Given the description of an element on the screen output the (x, y) to click on. 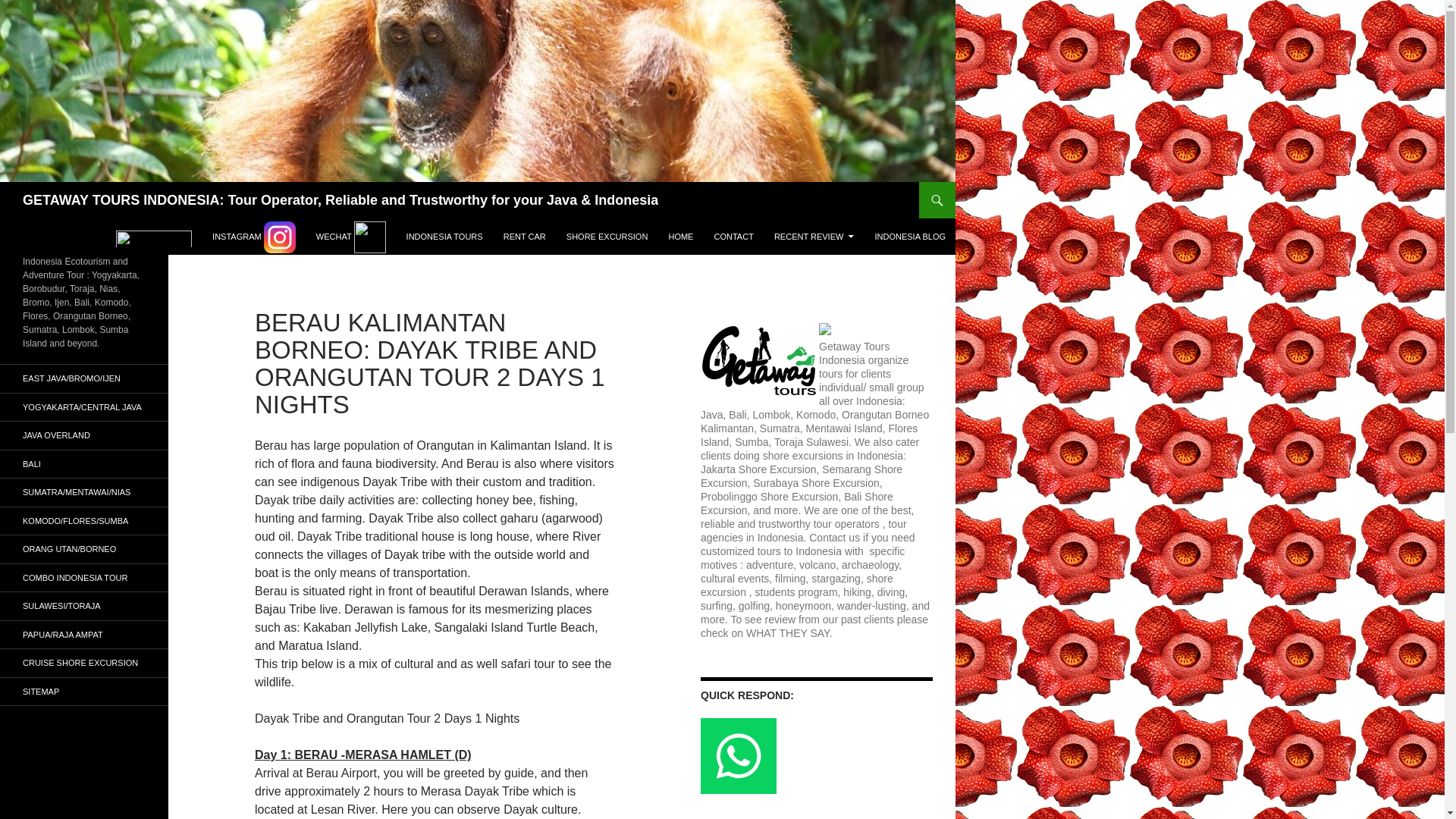
CONTACT (733, 236)
RECENT REVIEW (814, 236)
HOME (680, 236)
SITEMAP (84, 691)
INDONESIA BLOG (909, 236)
RENT CAR (524, 236)
SHORE EXCURSION (607, 236)
JAVA OVERLAND (84, 435)
